Given the description of an element on the screen output the (x, y) to click on. 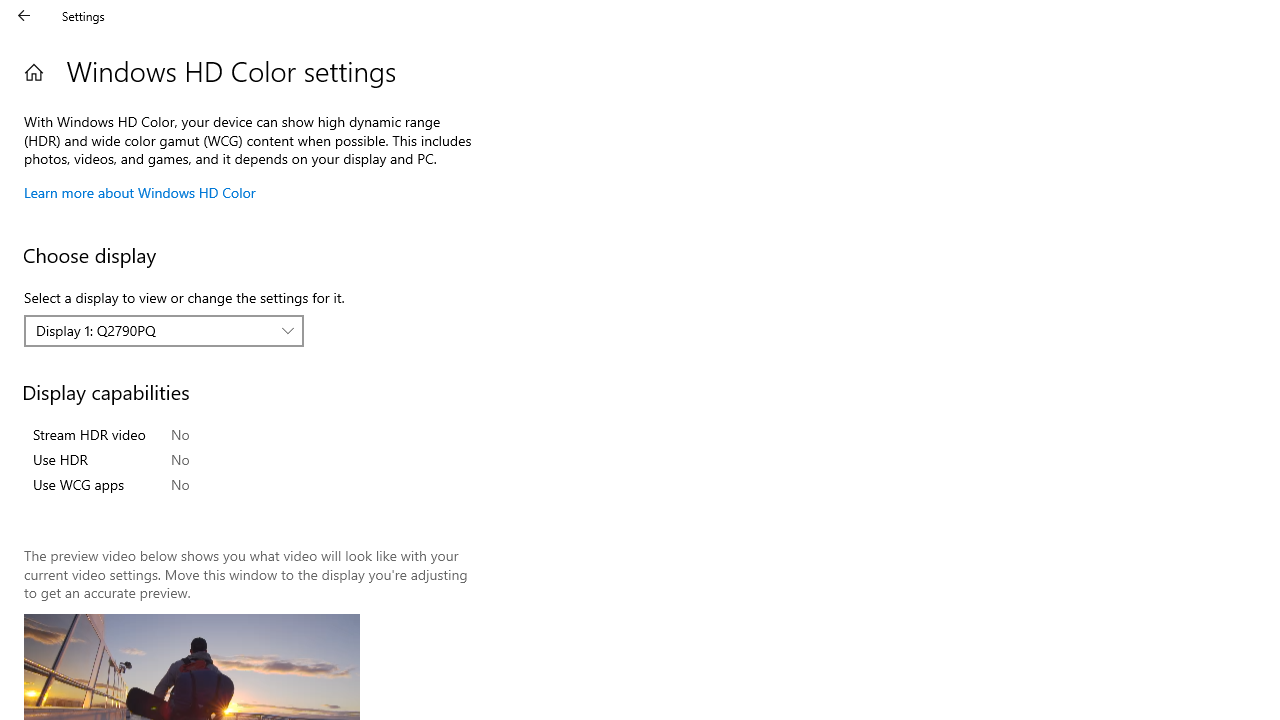
Display 1: Q2790PQ (153, 330)
Learn more about Windows HD Color (140, 192)
Select a display to view or change the settings for it. (164, 331)
